Given the description of an element on the screen output the (x, y) to click on. 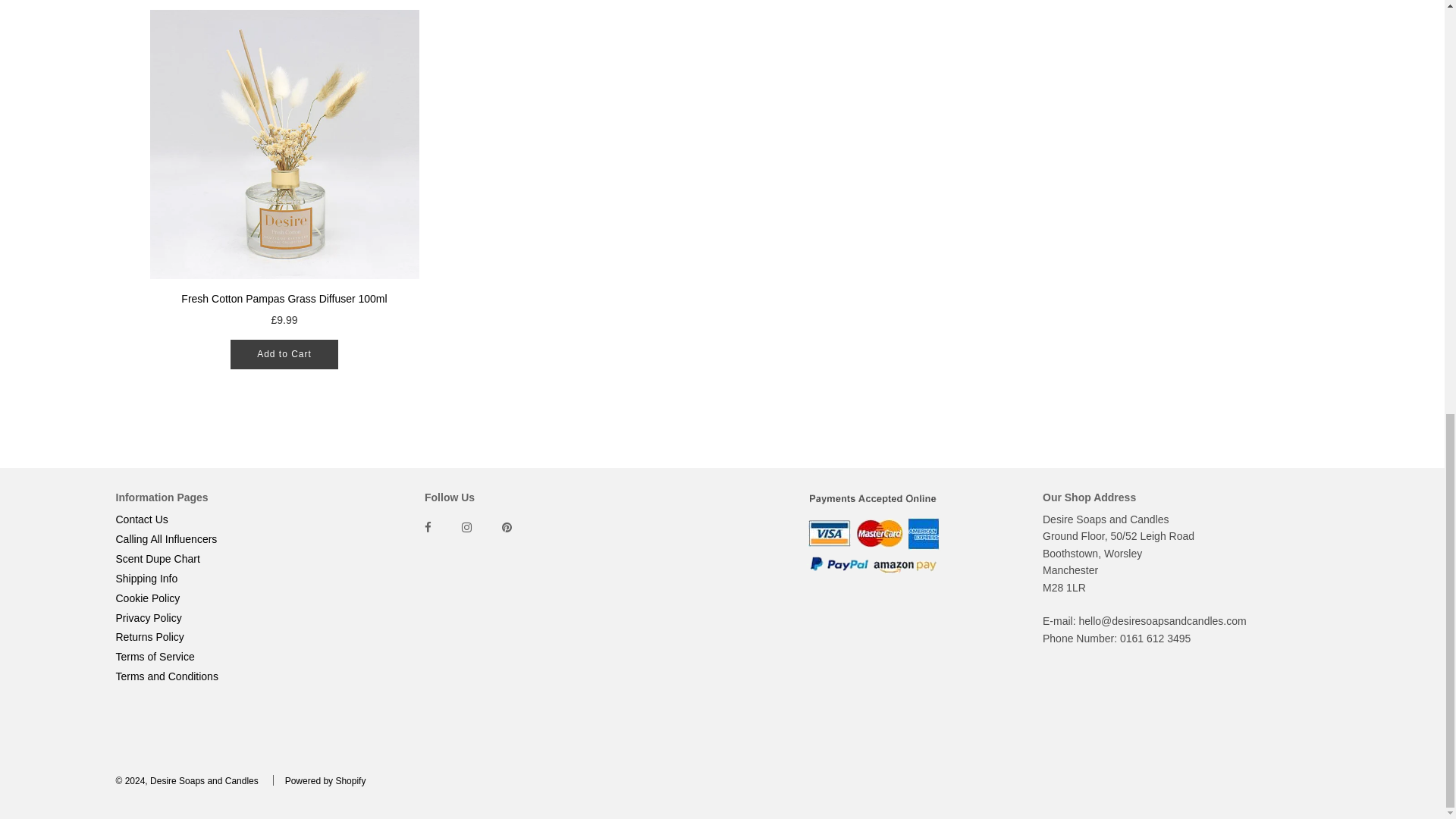
Fresh Cotton Pampas Grass Diffuser 100ml (284, 144)
